Given the description of an element on the screen output the (x, y) to click on. 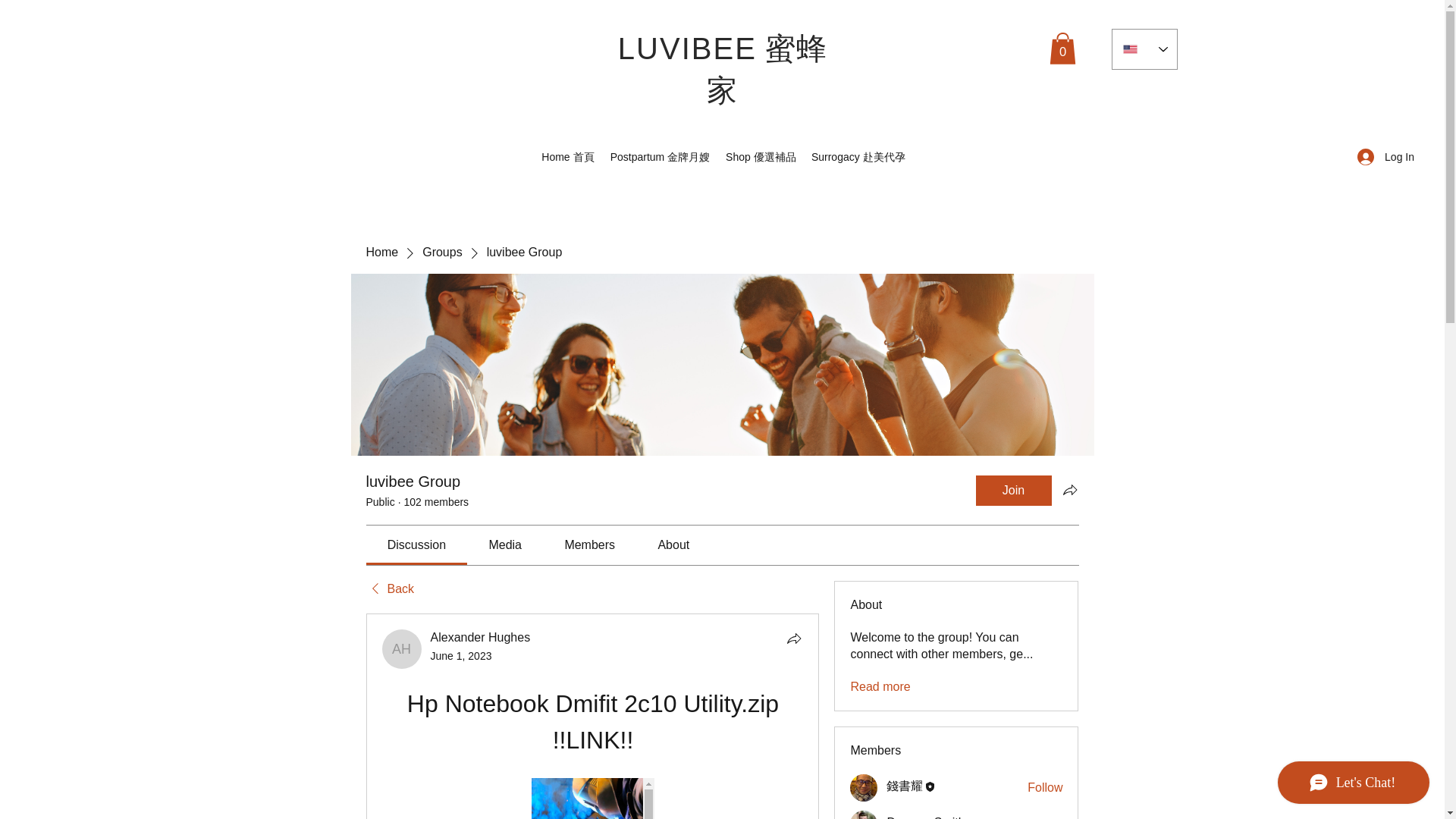
remote content (592, 798)
Alexander Hughes (401, 649)
Follow (1044, 817)
Read more (880, 686)
June 1, 2023 (461, 655)
Home (381, 252)
Dwayne Smith (924, 817)
Join (1013, 490)
Groups (441, 252)
Back (389, 588)
Follow (1044, 787)
Dwayne Smith (863, 814)
Log In (1385, 157)
